Given the description of an element on the screen output the (x, y) to click on. 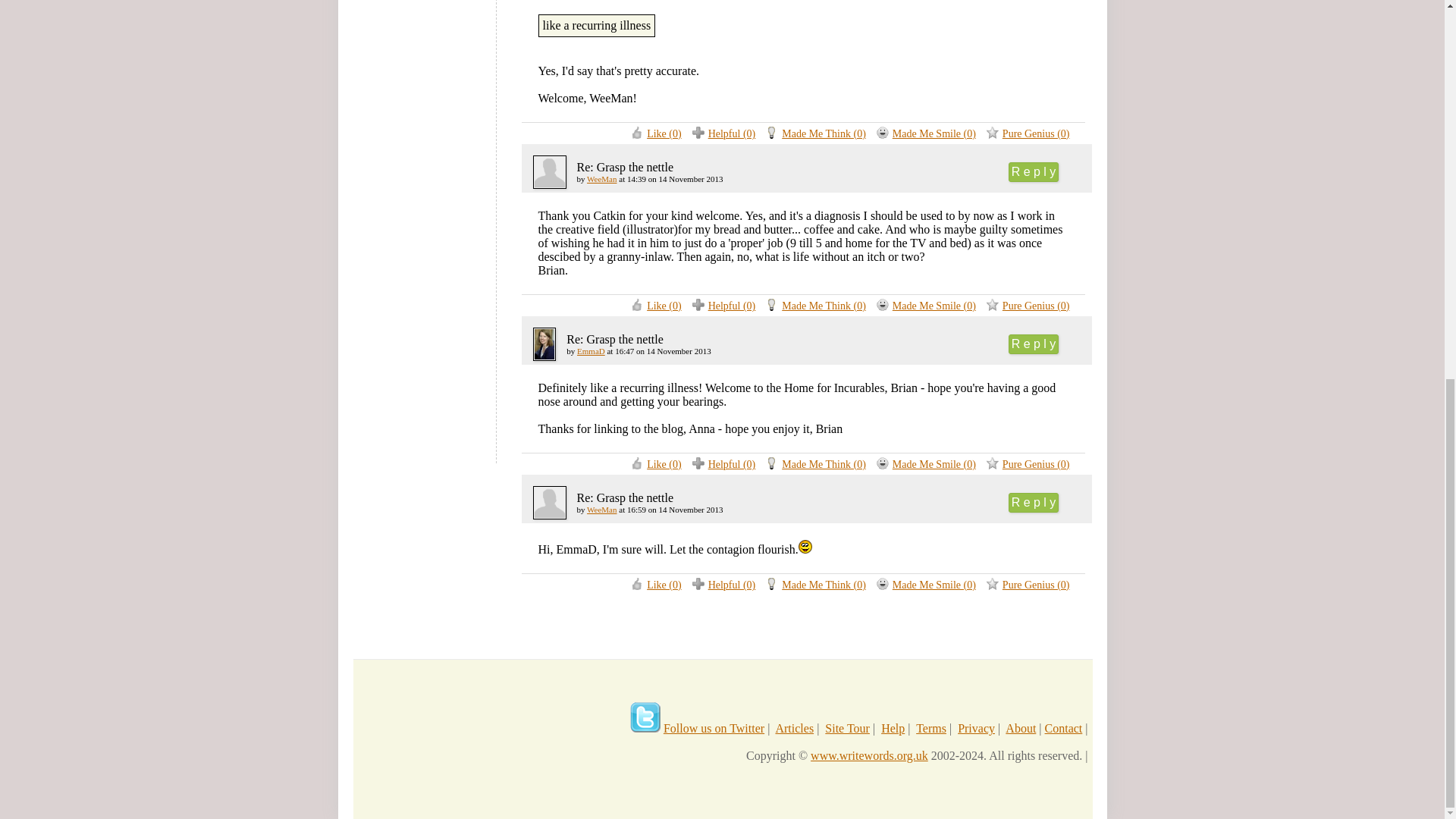
R e p l y (1034, 343)
R e p l y (1034, 502)
R e p l y (1034, 171)
